Given the description of an element on the screen output the (x, y) to click on. 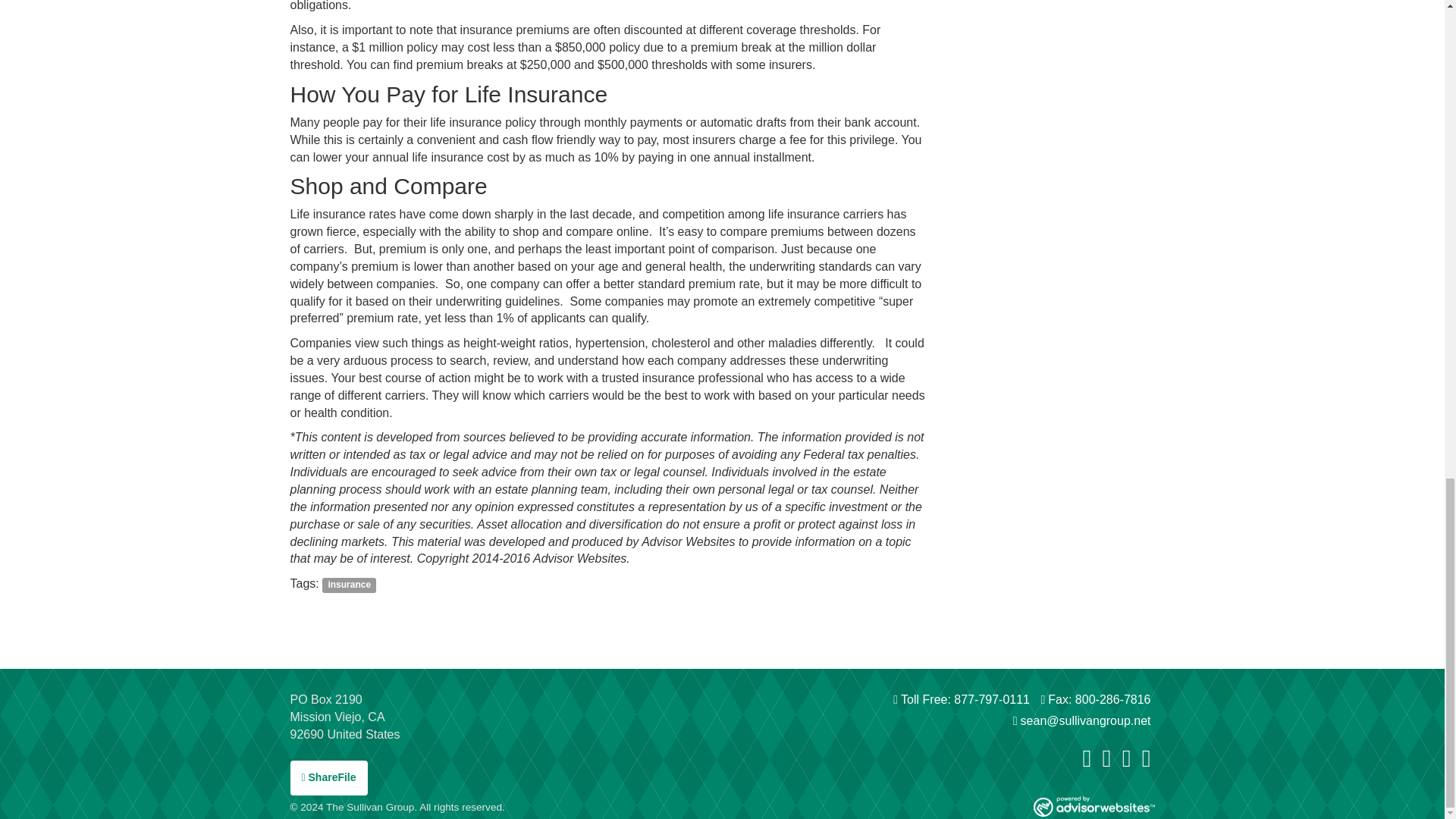
 Toll Free: 877-797-0111 (961, 698)
Get your own Advisor Websites website (1093, 806)
ShareFile (327, 777)
insurance (348, 585)
